Given the description of an element on the screen output the (x, y) to click on. 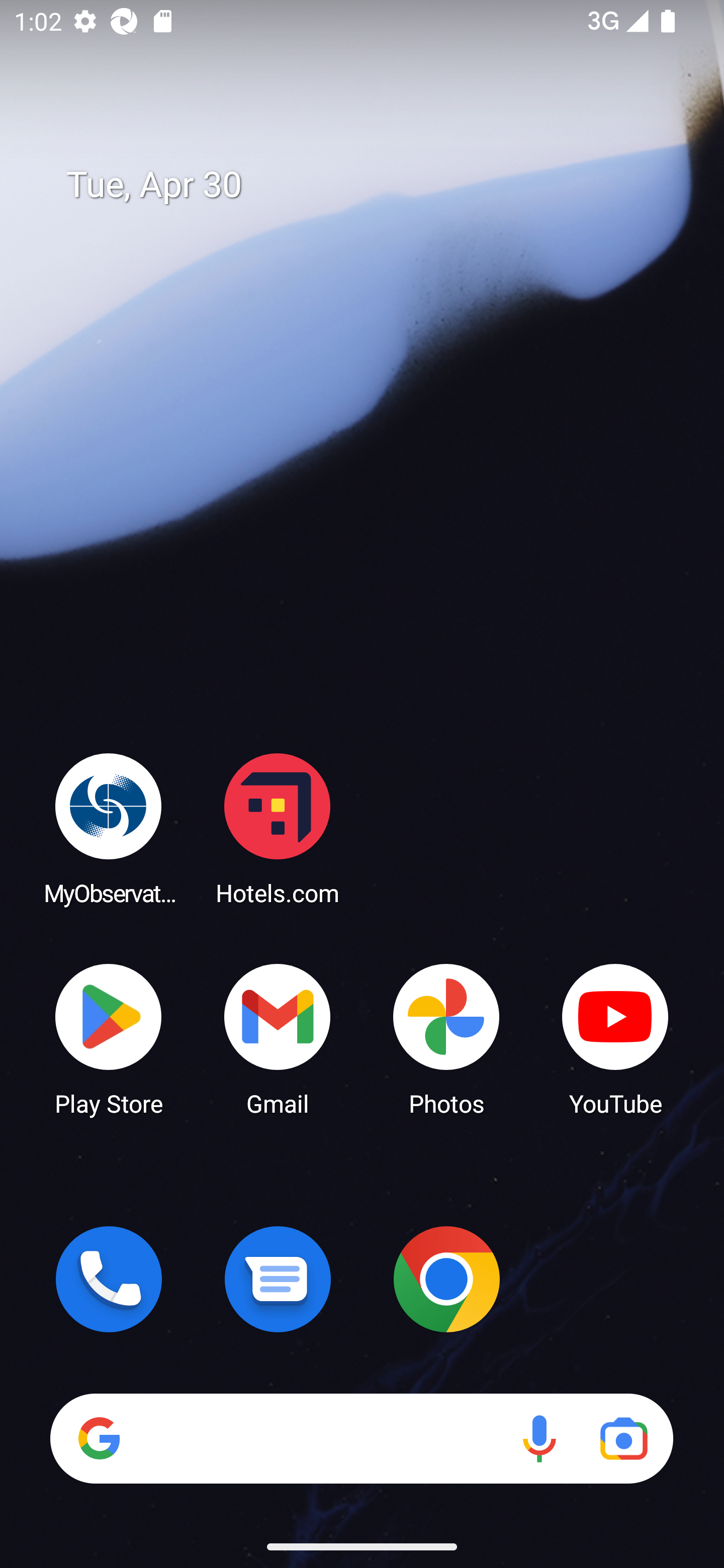
Tue, Apr 30 (375, 184)
MyObservatory (108, 828)
Hotels.com (277, 828)
Play Store (108, 1038)
Gmail (277, 1038)
Photos (445, 1038)
YouTube (615, 1038)
Phone (108, 1279)
Messages (277, 1279)
Chrome (446, 1279)
Voice search (539, 1438)
Google Lens (623, 1438)
